Given the description of an element on the screen output the (x, y) to click on. 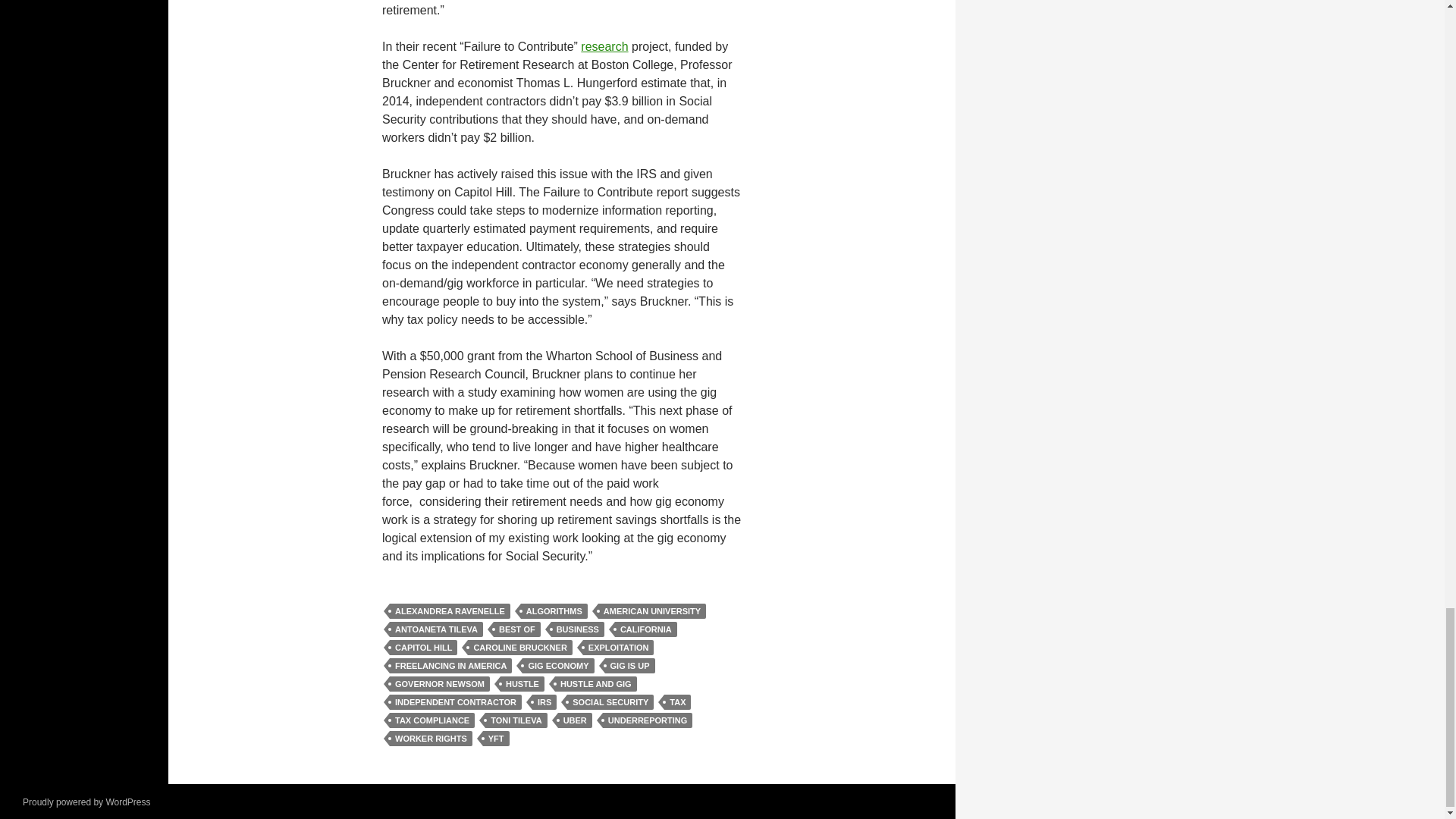
FREELANCING IN AMERICA (451, 665)
BEST OF (516, 629)
GIG IS UP (630, 665)
AMERICAN UNIVERSITY (652, 611)
CAROLINE BRUCKNER (519, 647)
GOVERNOR NEWSOM (439, 683)
GIG ECONOMY (558, 665)
ALGORITHMS (554, 611)
EXPLOITATION (618, 647)
BUSINESS (577, 629)
